Given the description of an element on the screen output the (x, y) to click on. 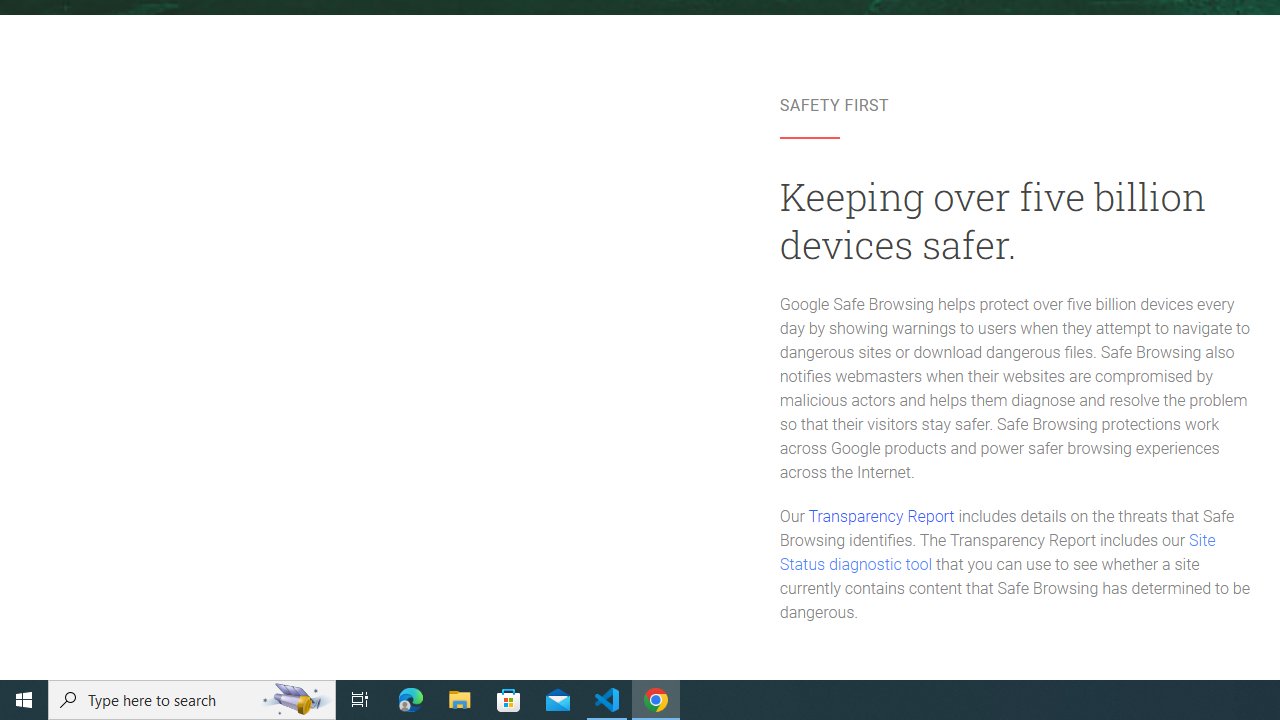
Site Status diagnostic tool (997, 553)
Transparency Report (880, 516)
